Given the description of an element on the screen output the (x, y) to click on. 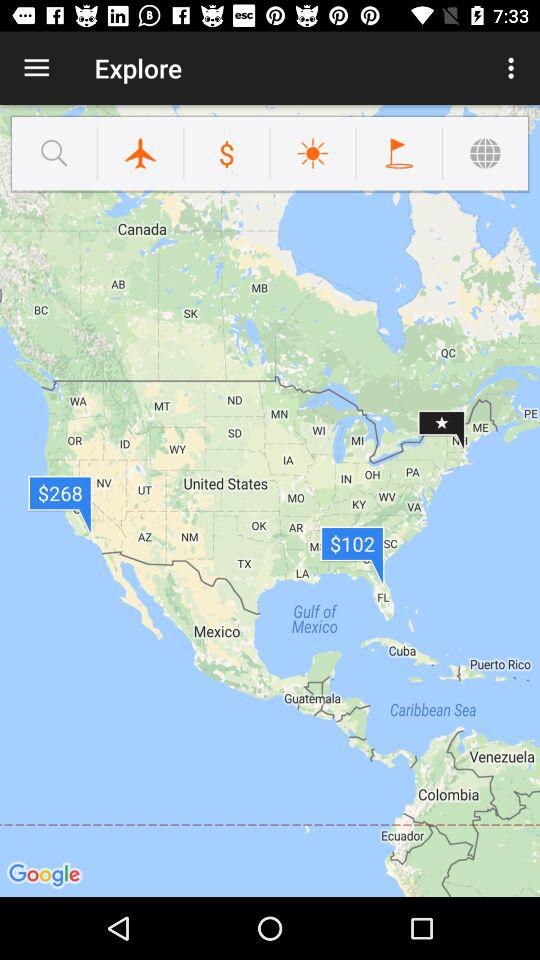
press icon to the left of the explore (36, 68)
